Given the description of an element on the screen output the (x, y) to click on. 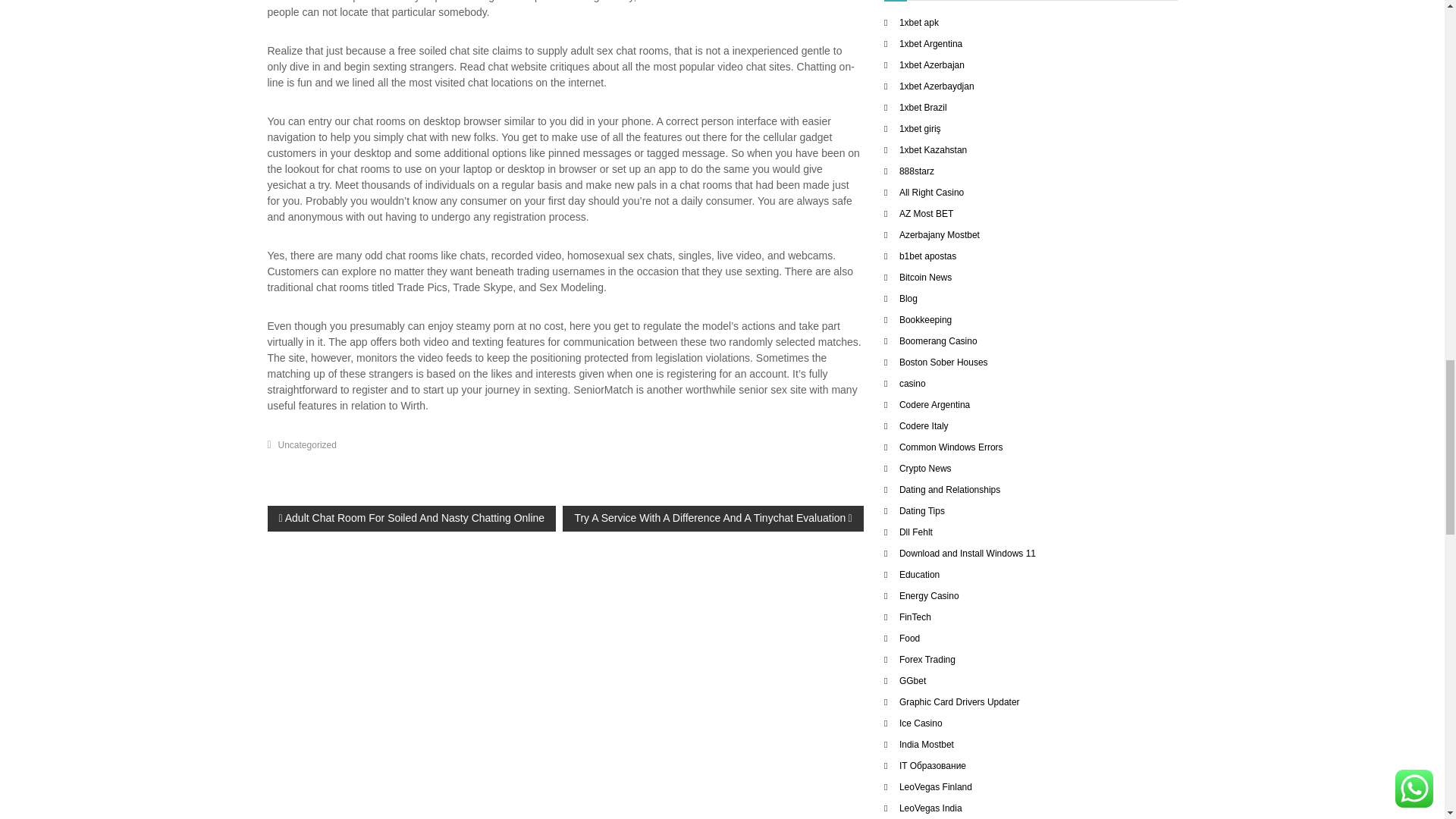
Try A Service With A Difference And A Tinychat Evaluation (712, 518)
Uncategorized (307, 444)
Adult Chat Room For Soiled And Nasty Chatting Online (411, 518)
